Given the description of an element on the screen output the (x, y) to click on. 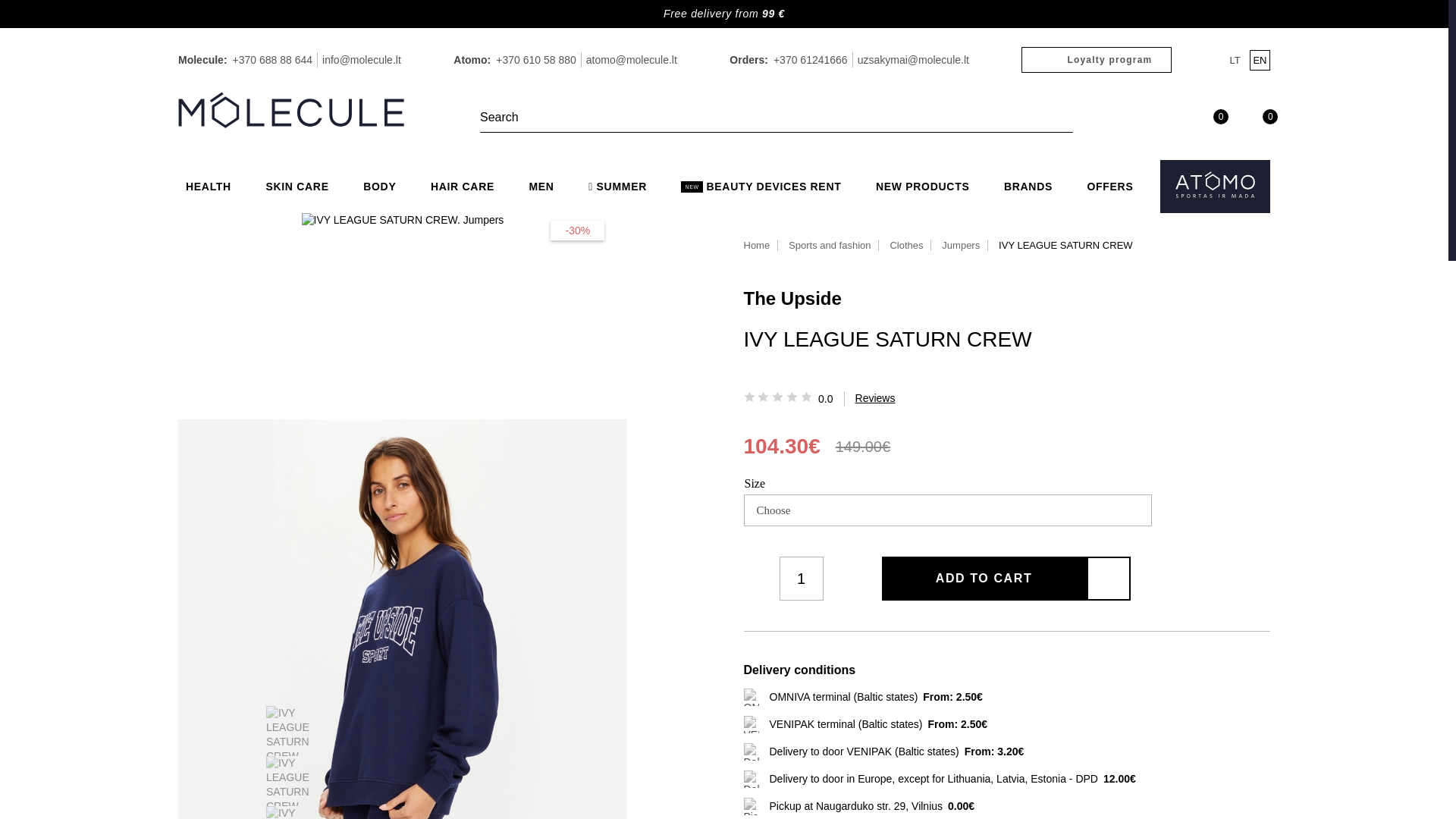
EN (1259, 59)
Molecule (290, 111)
en (1259, 59)
Loyalty program (1097, 59)
Molecule (290, 109)
HEALTH (207, 186)
LT (1234, 59)
1 (801, 578)
lt (1234, 59)
Loyalty program (1097, 59)
